Given the description of an element on the screen output the (x, y) to click on. 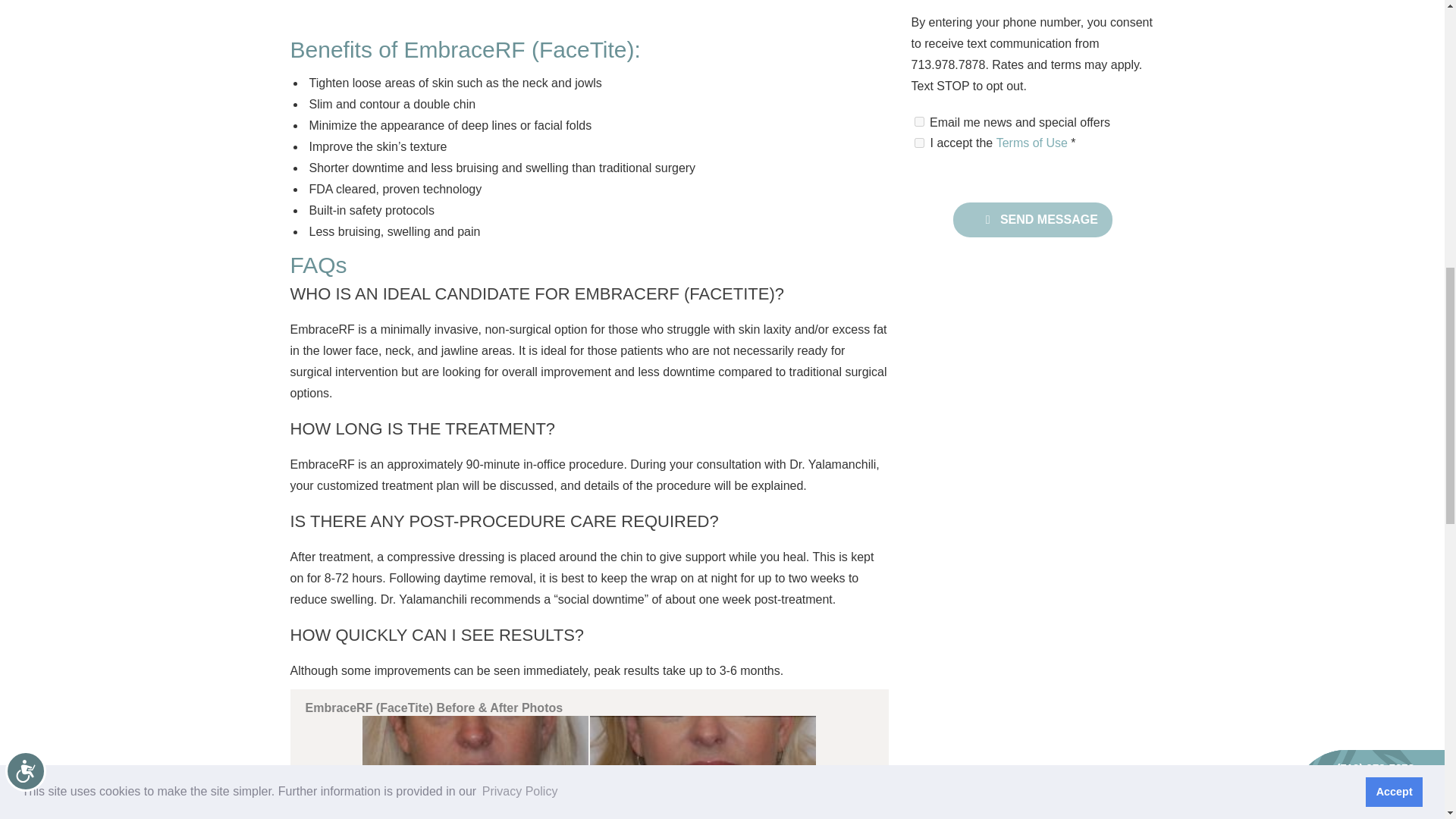
Email me news and special offers (919, 121)
1 (919, 143)
